Given the description of an element on the screen output the (x, y) to click on. 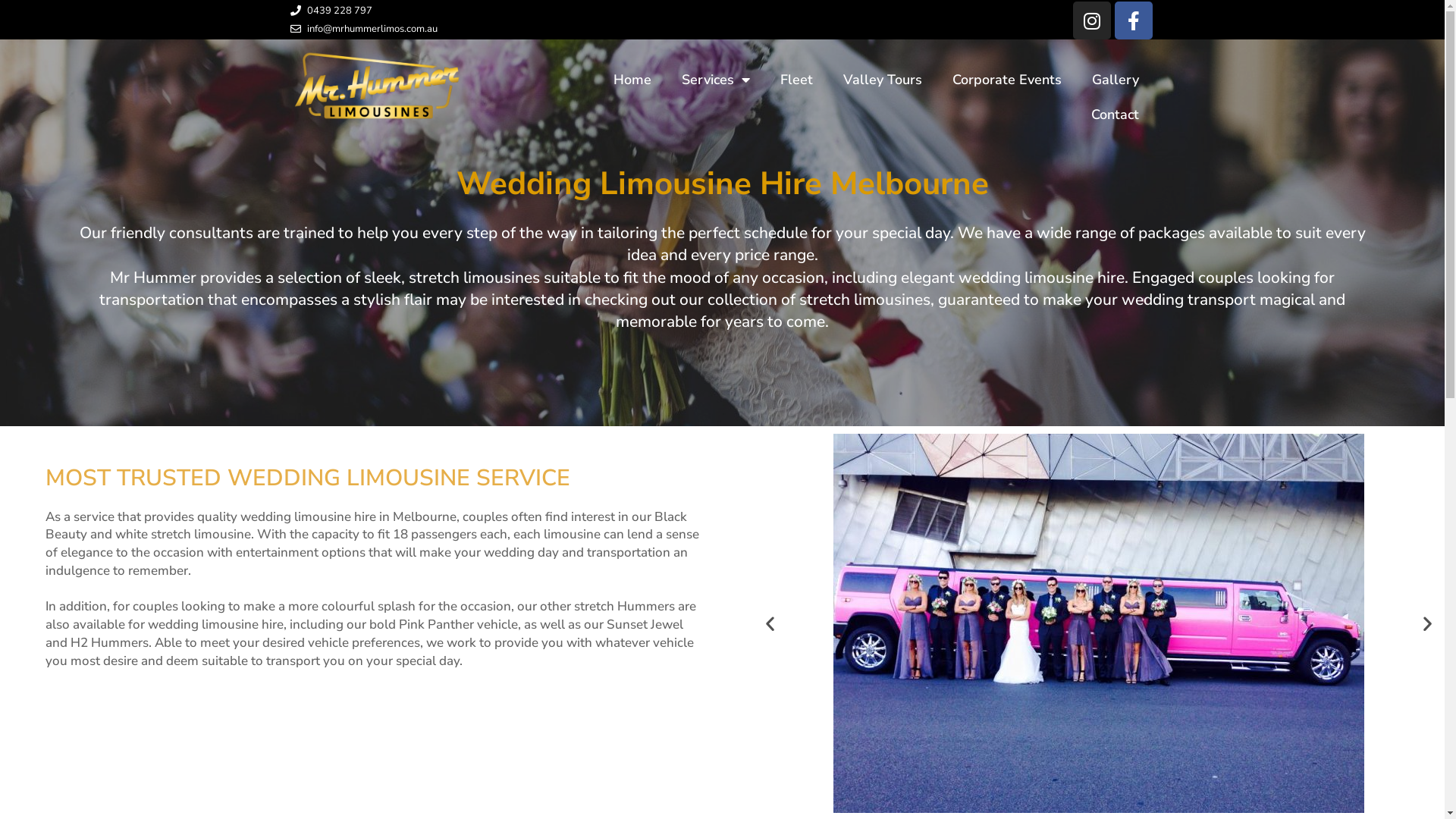
Fleet Element type: text (796, 79)
Valley Tours Element type: text (882, 79)
Home Element type: text (632, 79)
Corporate Events Element type: text (1006, 79)
Gallery Element type: text (1115, 79)
Services Element type: text (715, 79)
Contact Element type: text (1115, 114)
